Given the description of an element on the screen output the (x, y) to click on. 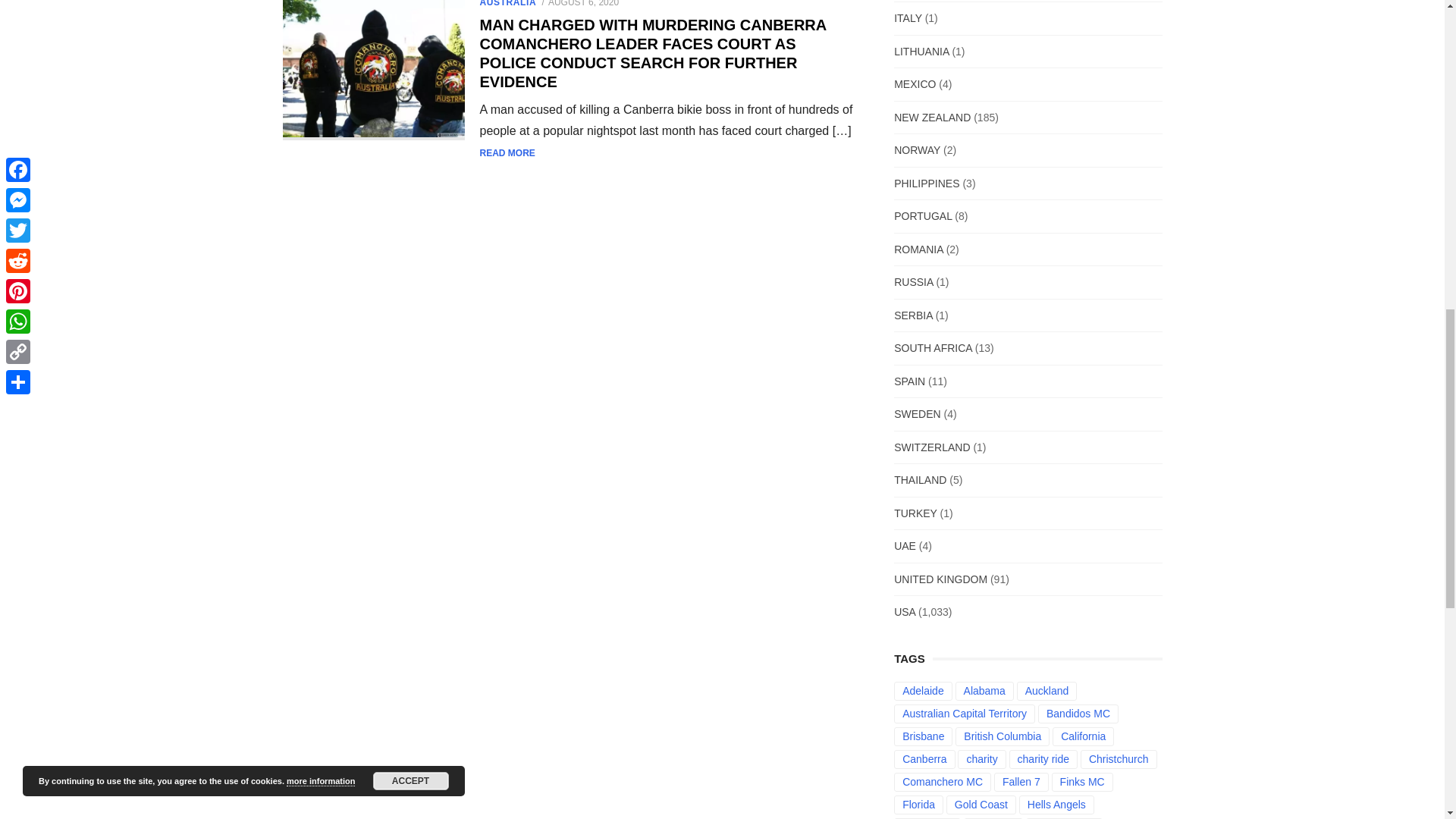
READ MORE (506, 153)
AUGUST 6, 2020 (583, 3)
AUSTRALIA (507, 3)
